Given the description of an element on the screen output the (x, y) to click on. 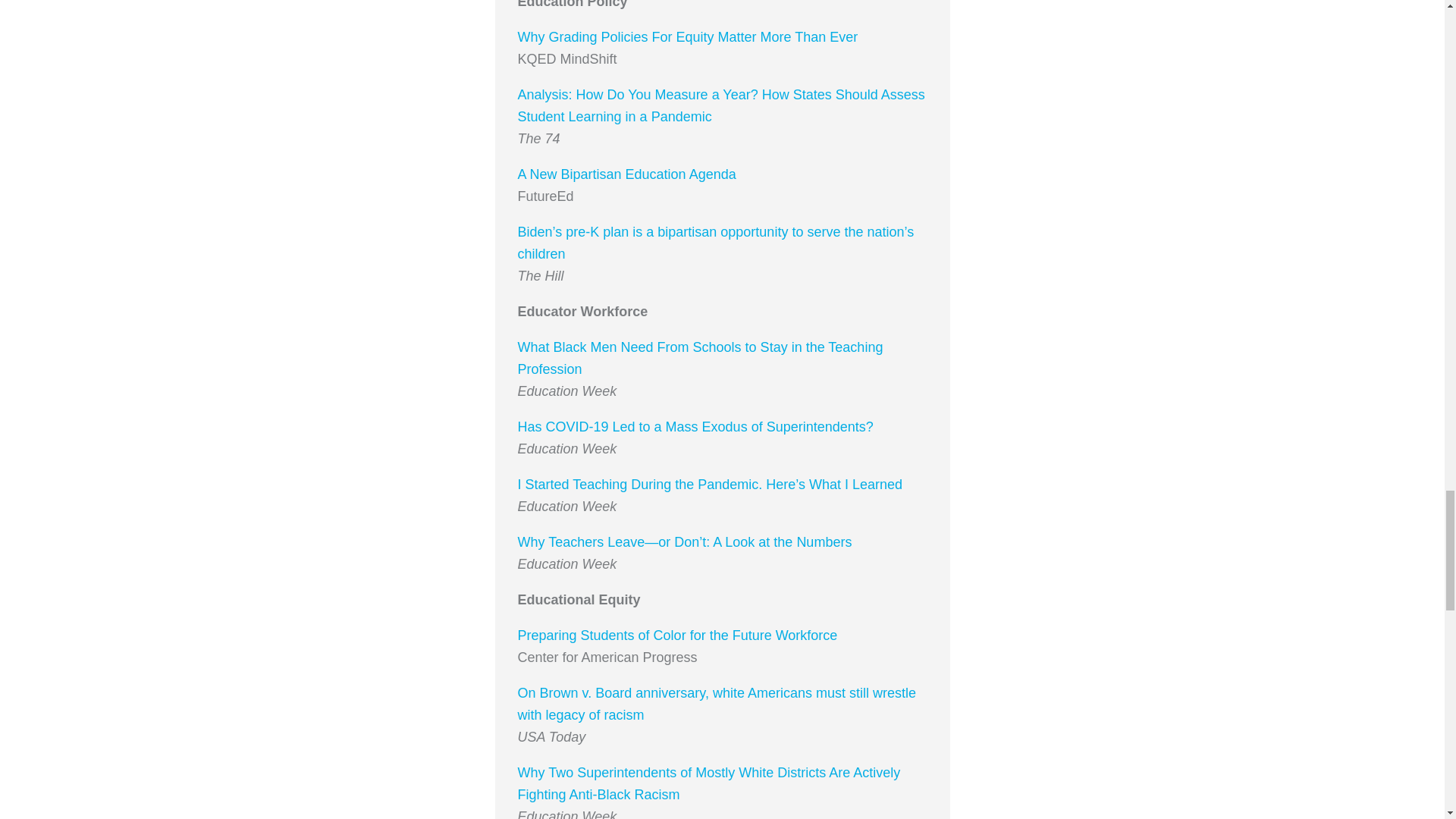
A New Bipartisan Education Agenda (625, 174)
Preparing Students of Color for the Future Workforce (676, 635)
Why Grading Policies For Equity Matter More Than Ever (686, 37)
Has COVID-19 Led to a Mass Exodus of Superintendents? (694, 426)
